Given the description of an element on the screen output the (x, y) to click on. 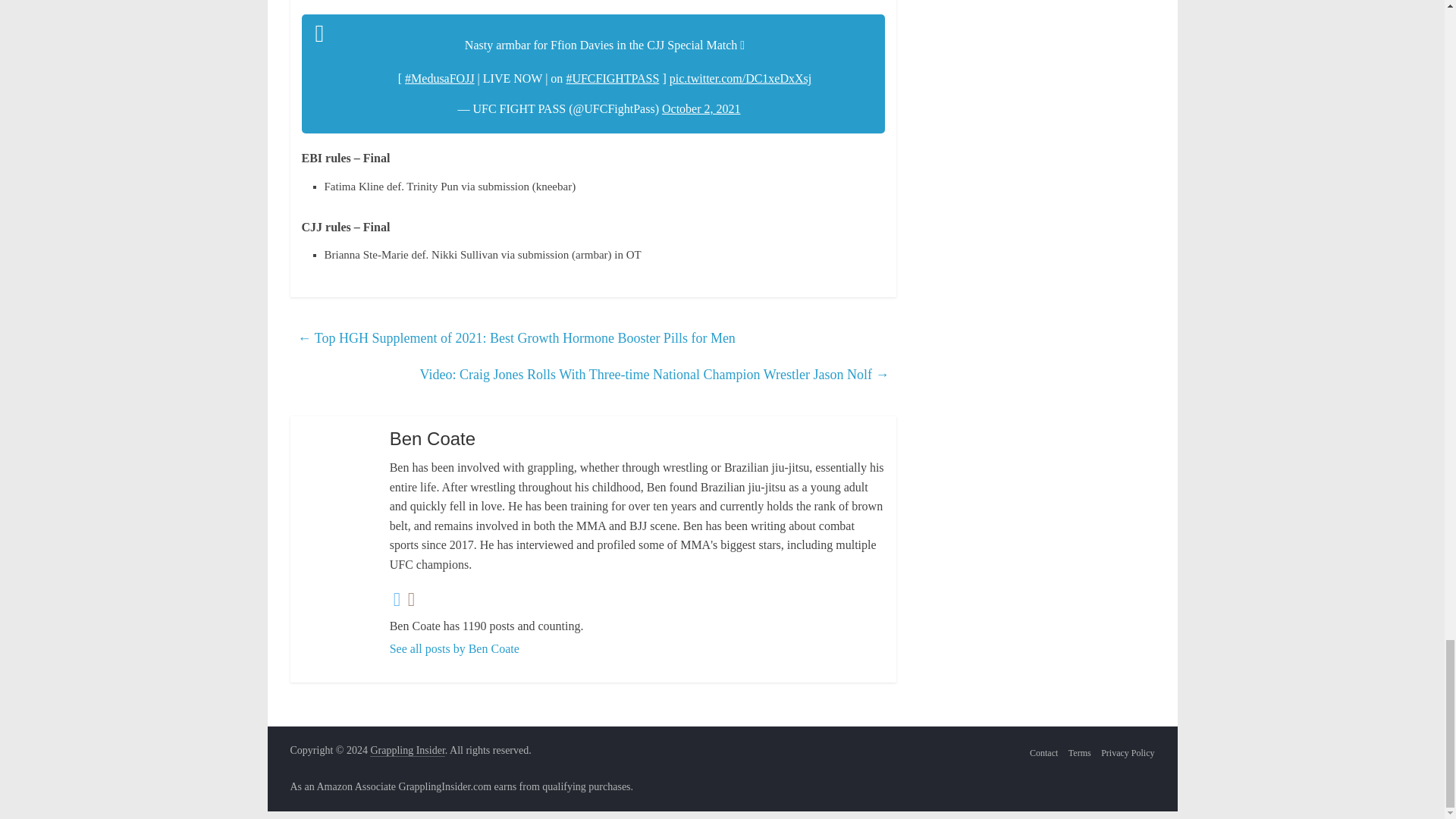
Grappling Insider (406, 750)
